Given the description of an element on the screen output the (x, y) to click on. 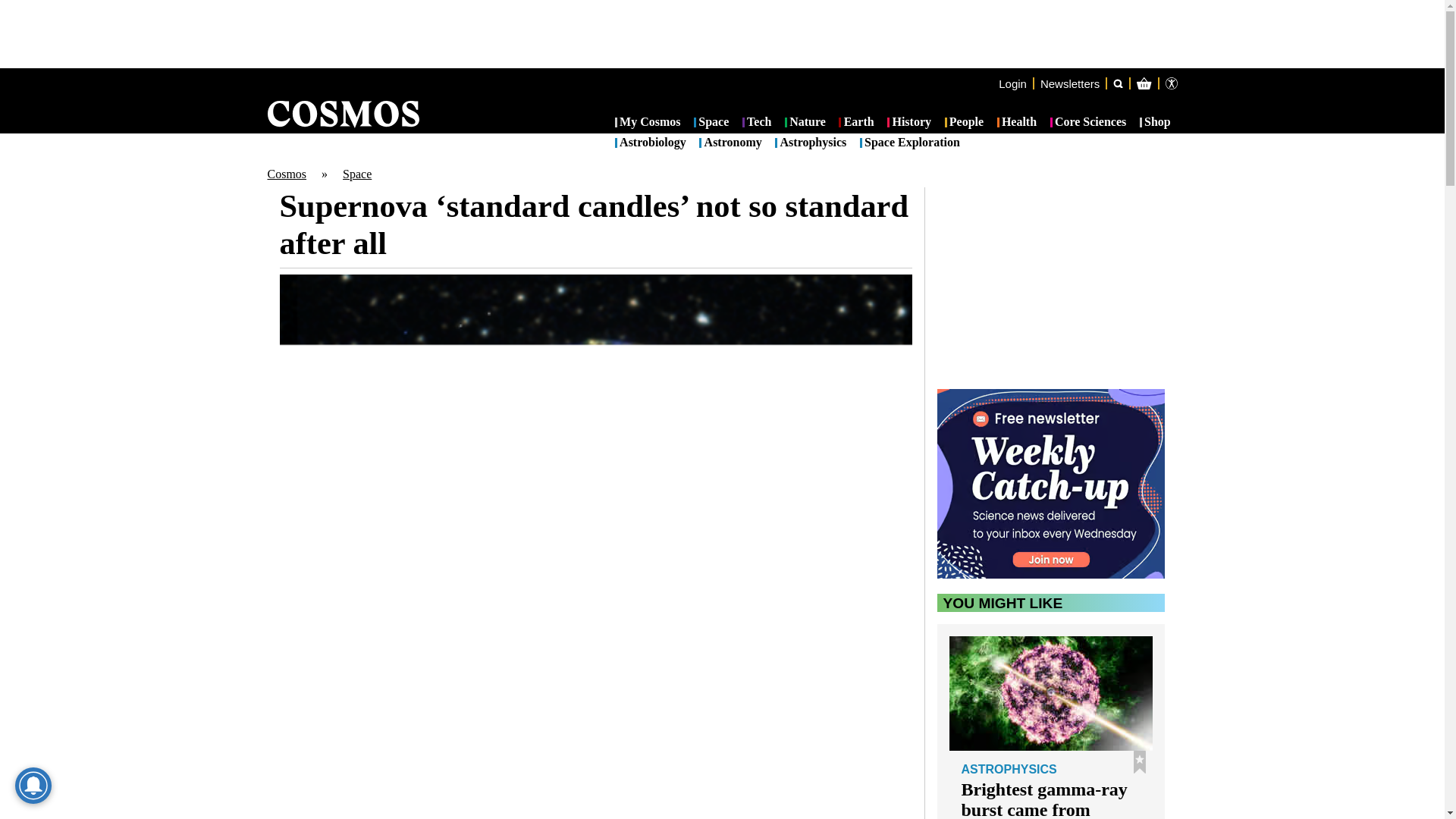
Shop (1155, 122)
Tech (756, 122)
My Cosmos (647, 122)
History (908, 122)
Newsletters (1070, 82)
Health (1016, 122)
Core Sciences (1087, 122)
Accessibility Tools (1170, 82)
People (964, 122)
Nature (804, 122)
